Given the description of an element on the screen output the (x, y) to click on. 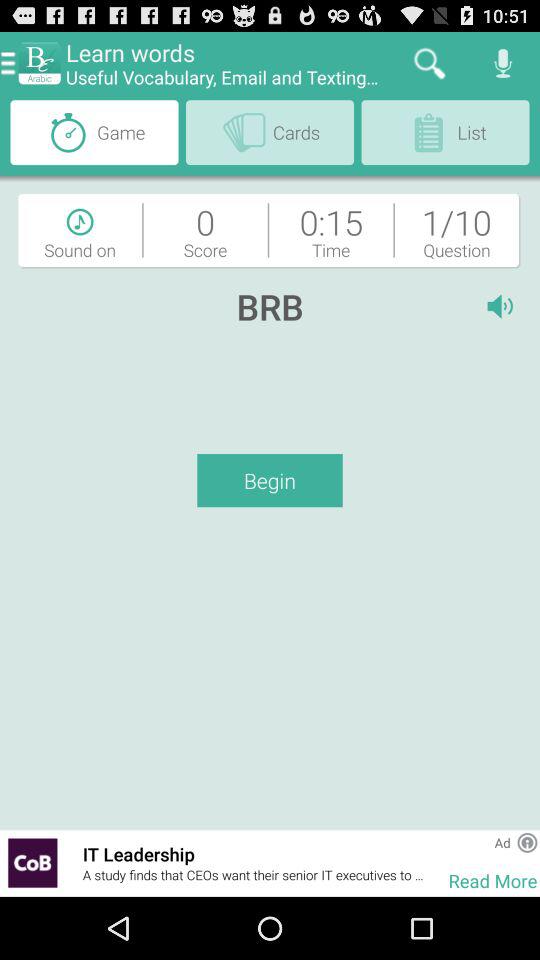
information (527, 842)
